Given the description of an element on the screen output the (x, y) to click on. 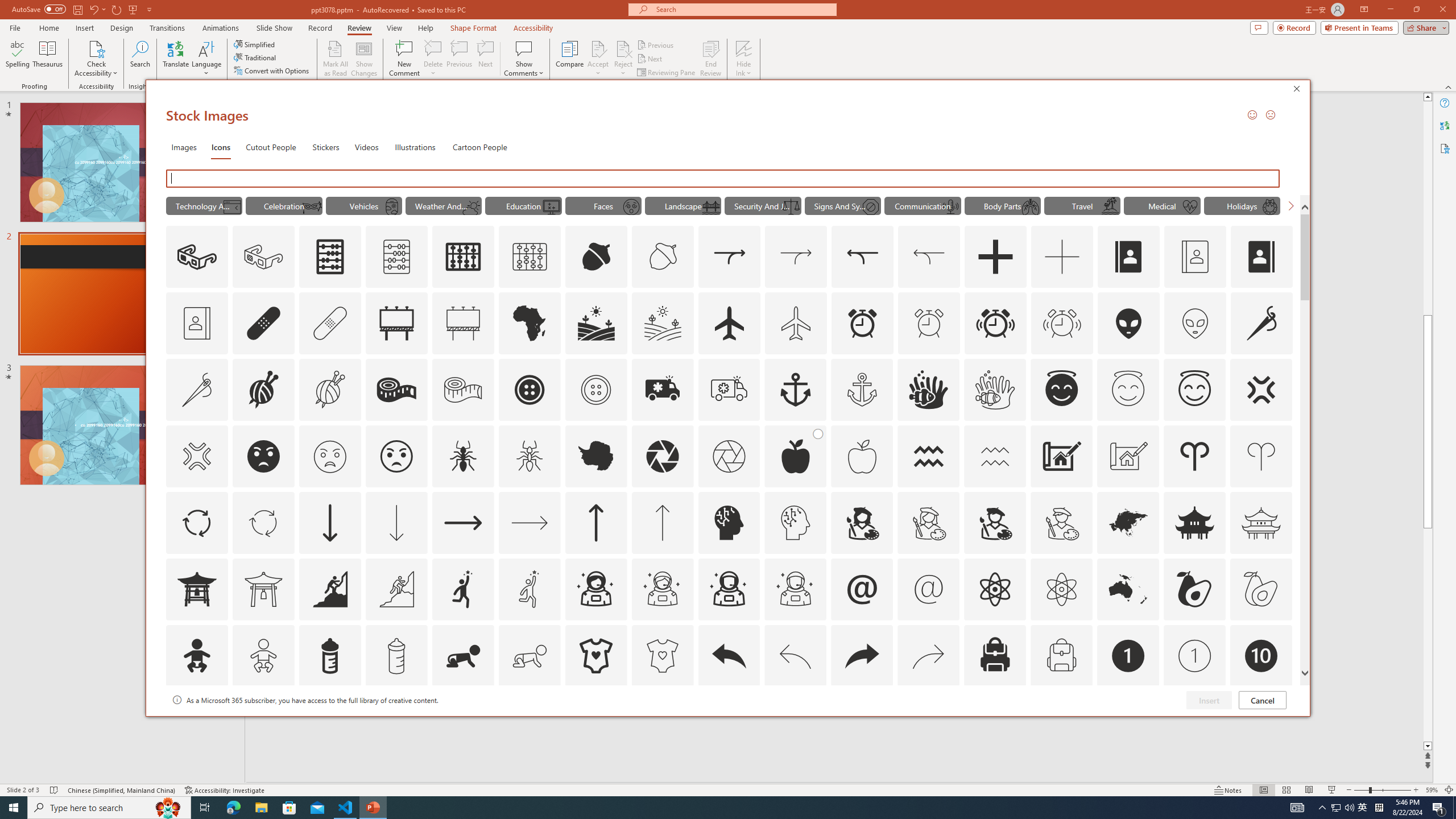
Search Icons (725, 178)
Simplified (254, 44)
"Travel" Icons. (1082, 205)
"Body Parts" Icons. (1002, 205)
Mark All as Read (335, 58)
AutomationID: Icons_AlterationsTailoring2_M (462, 389)
AutomationID: Icons_TropicalScene_M (1110, 206)
AutomationID: Icons_Aspiration1 (462, 588)
